Given the description of an element on the screen output the (x, y) to click on. 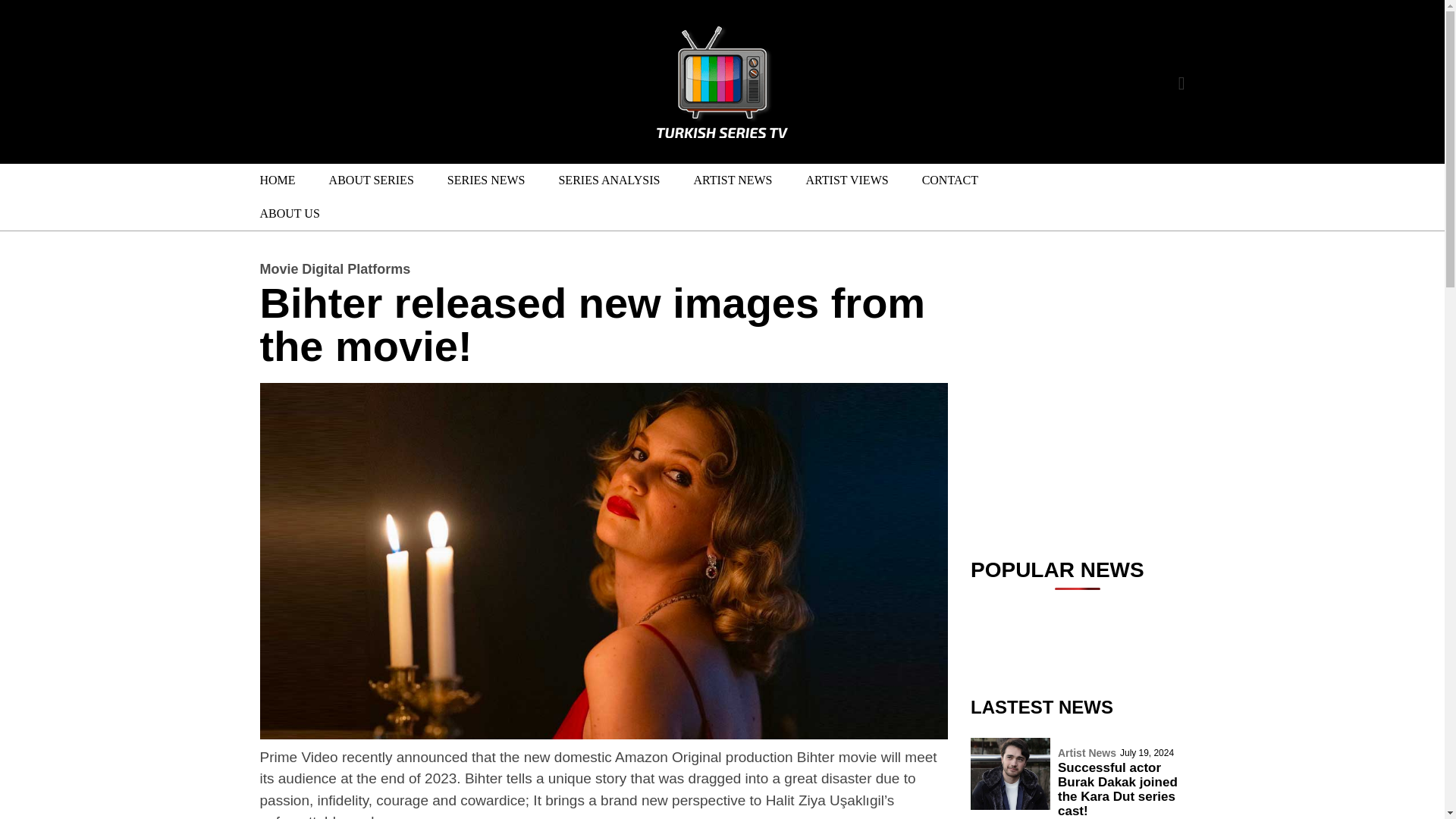
Movie (278, 268)
ARTIST NEWS (733, 180)
SERIES ANALYSIS (609, 180)
HOME (277, 180)
Artist News (1087, 752)
ABOUT US (287, 213)
CONTACT (949, 180)
Digital Platforms (355, 268)
ABOUT SERIES (371, 180)
SERIES NEWS (485, 180)
ARTIST VIEWS (847, 180)
